Given the description of an element on the screen output the (x, y) to click on. 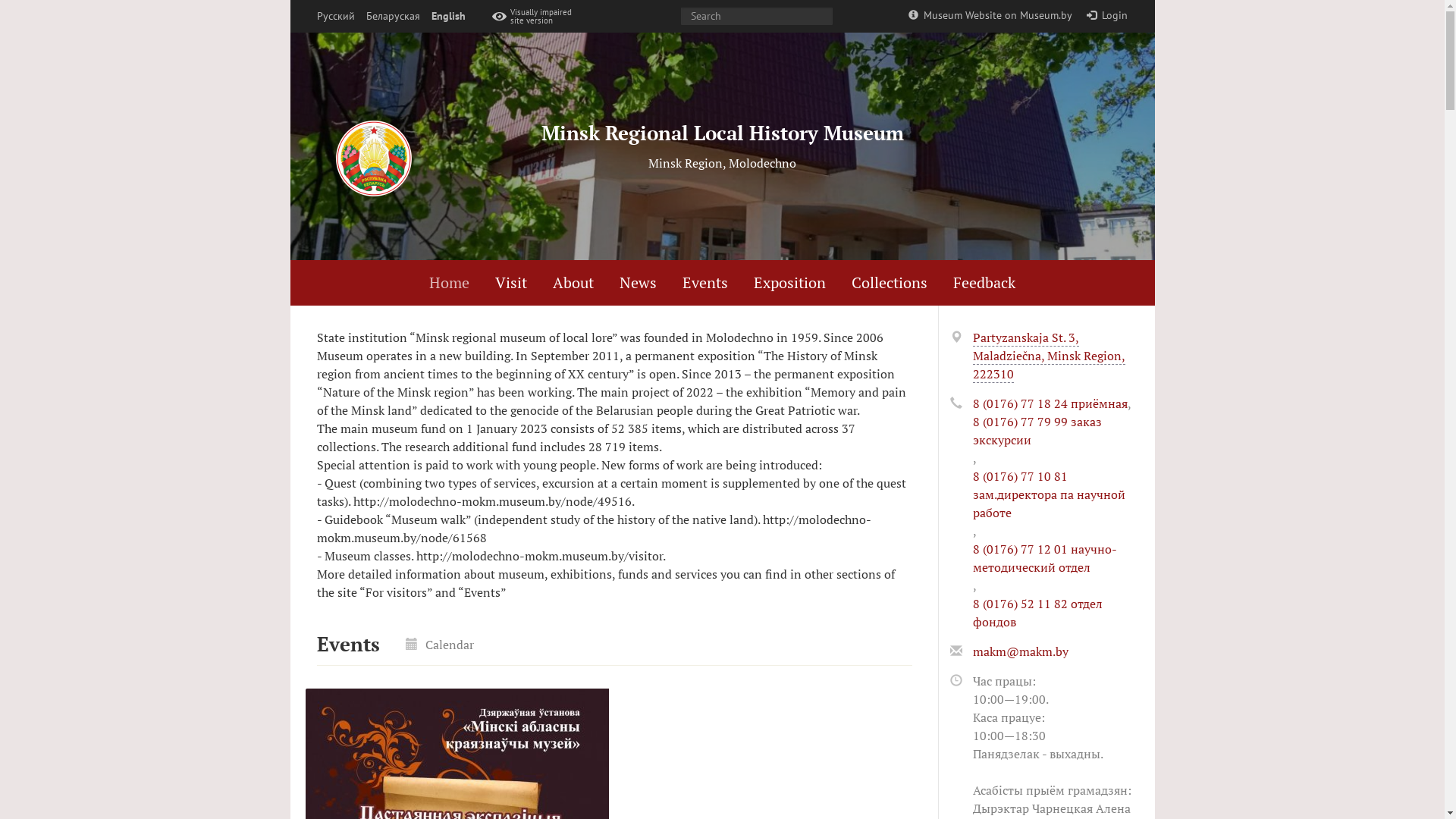
English Element type: text (447, 16)
makm@makm.by Element type: text (1019, 651)
Login Element type: text (1106, 14)
Museum Website on Museum.by Element type: text (989, 14)
Feedback Element type: text (984, 282)
News Element type: text (637, 282)
Home Element type: text (449, 282)
Enter the terms you wish to search for. Element type: hover (756, 16)
Events Element type: text (705, 282)
About Element type: text (572, 282)
Visually impaired site version Element type: text (535, 16)
Exposition Element type: text (789, 282)
Collections Element type: text (889, 282)
Visit Element type: text (511, 282)
Minsk Regional Local History Museum Element type: text (722, 132)
Skip to main content Element type: text (0, 0)
